Given the description of an element on the screen output the (x, y) to click on. 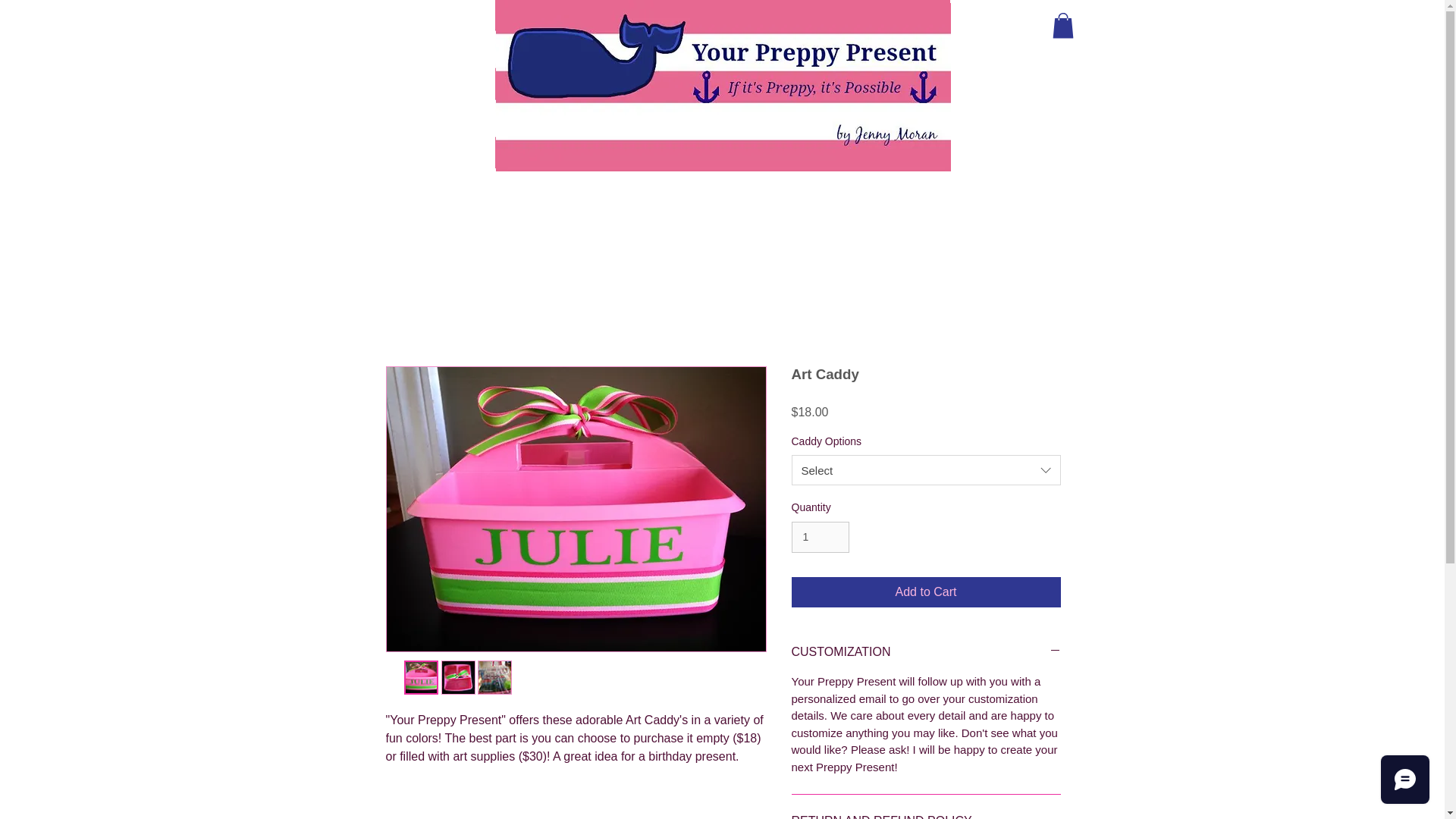
CUSTOMIZATION (926, 651)
1 (820, 536)
Select (926, 470)
RETURN AND REFUND POLICY (926, 816)
Add to Cart (926, 592)
